Given the description of an element on the screen output the (x, y) to click on. 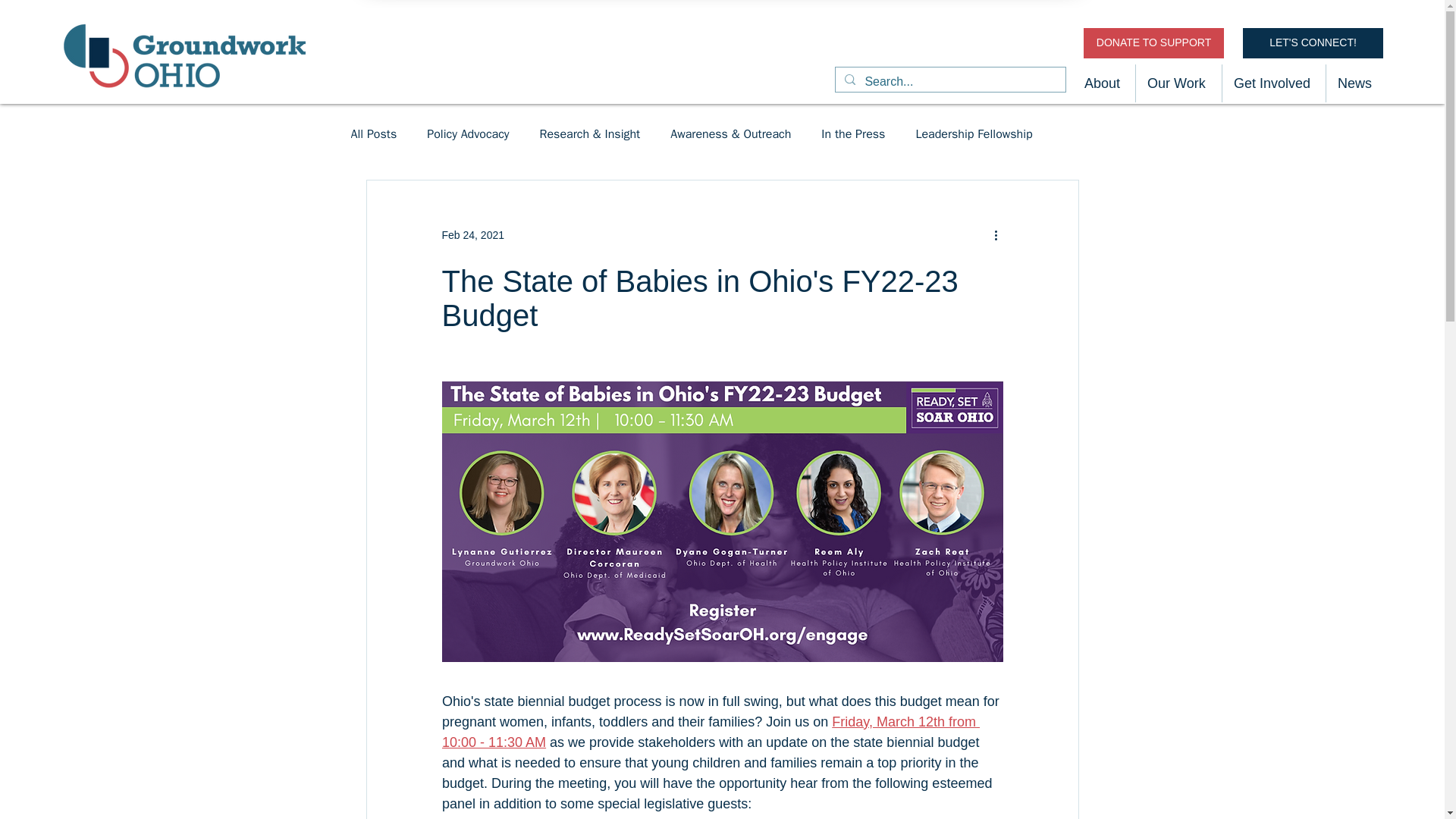
LET'S CONNECT! (1313, 42)
News (1355, 83)
Friday, March 12th from 10:00 - 11:30 AM (709, 732)
Leadership Fellowship (973, 133)
In the Press (853, 133)
All Posts (373, 133)
Groundwork Ohio (185, 55)
Feb 24, 2021 (472, 234)
DONATE TO SUPPORT (1153, 42)
Policy Advocacy (467, 133)
